Given the description of an element on the screen output the (x, y) to click on. 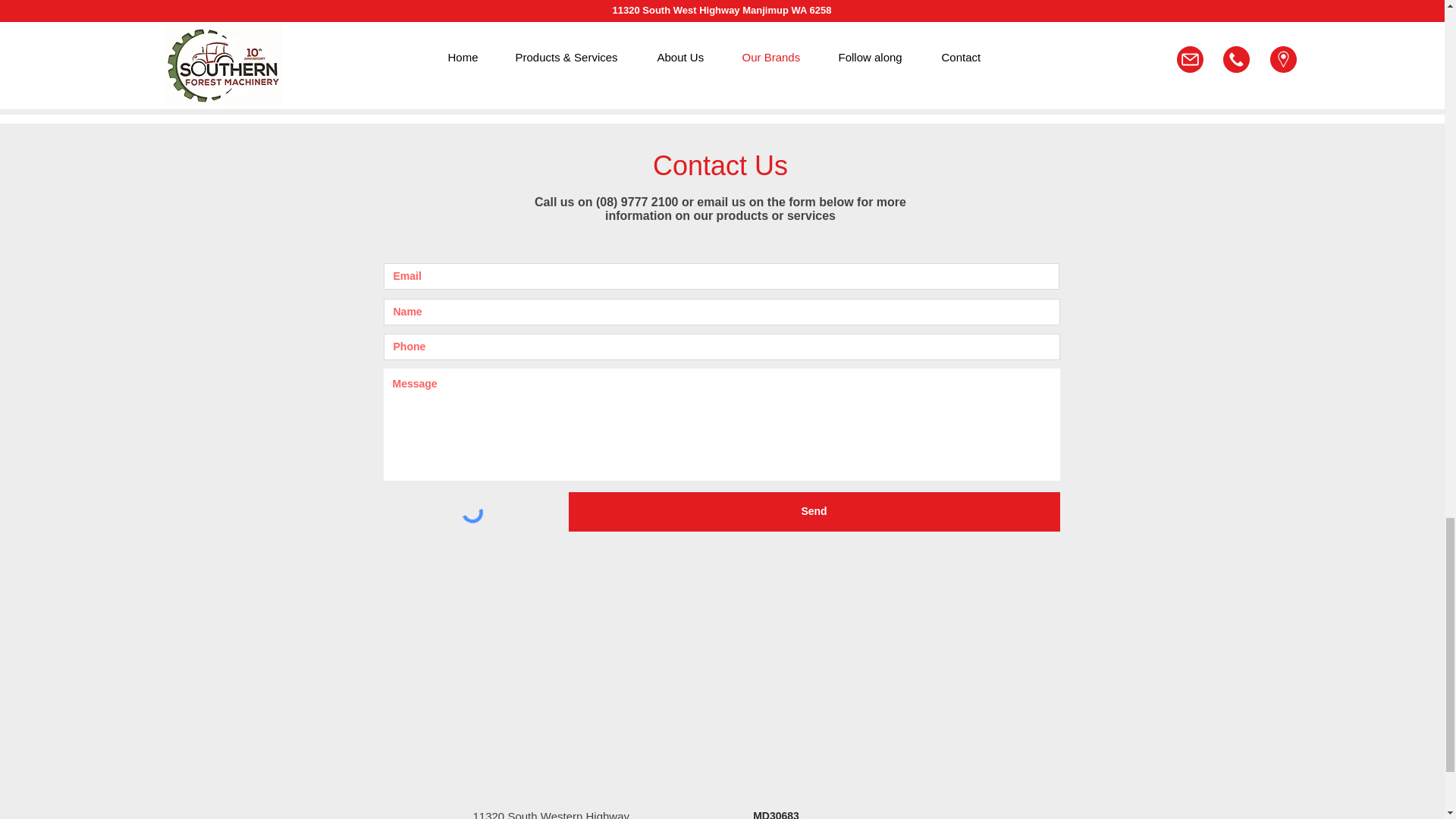
Send (814, 511)
MD30683 (775, 814)
Send (896, 40)
